Given the description of an element on the screen output the (x, y) to click on. 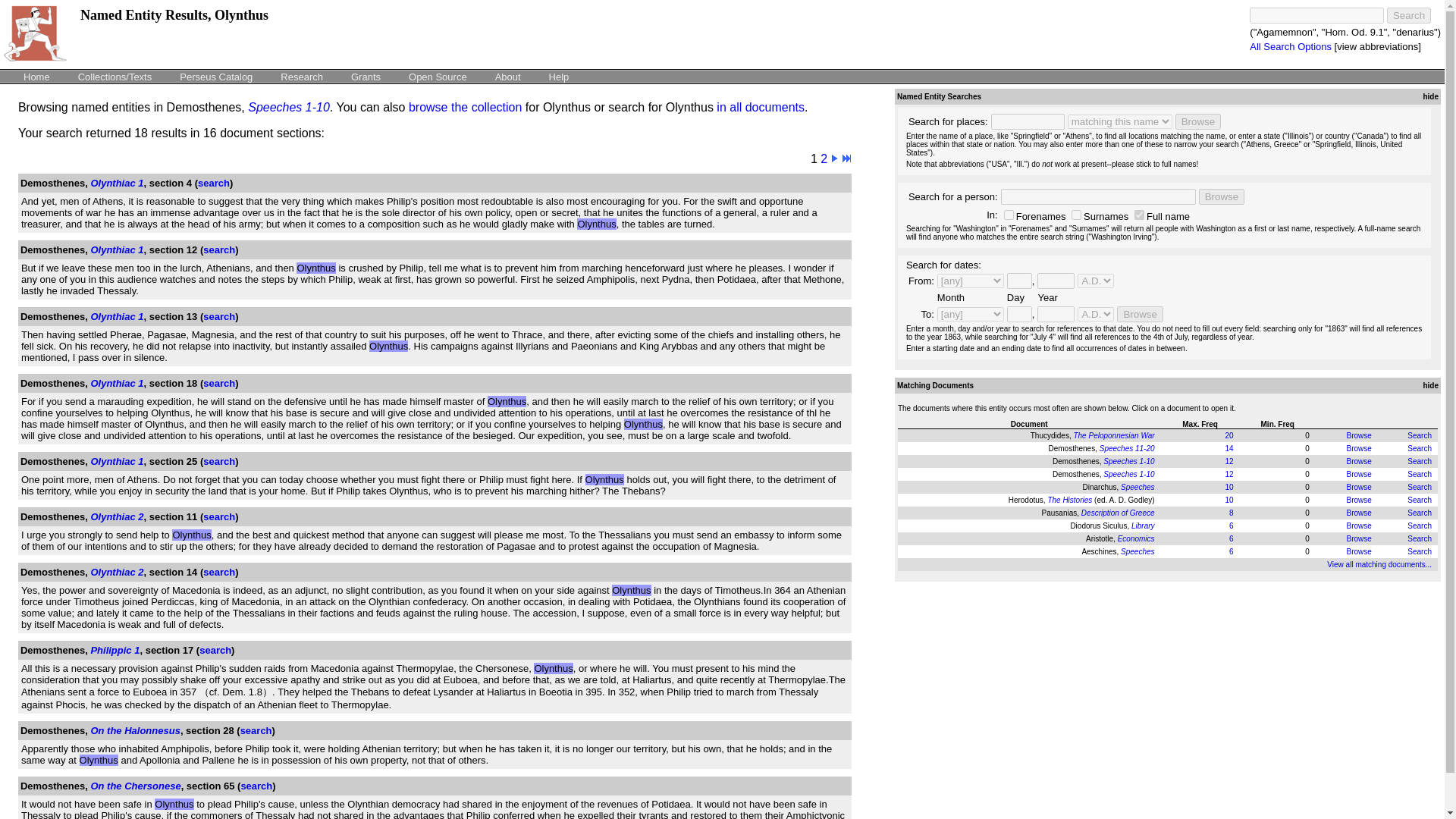
Browse (1197, 121)
20 (1228, 435)
Browse (1138, 314)
The Histories (1069, 500)
Browse (1358, 474)
Browse (1197, 121)
Browse (1358, 500)
on (1139, 214)
Help (558, 76)
All Search Options (1290, 46)
Browse (1221, 196)
Browse (1138, 314)
Search (1419, 435)
Search (1419, 461)
Search (1419, 500)
